Given the description of an element on the screen output the (x, y) to click on. 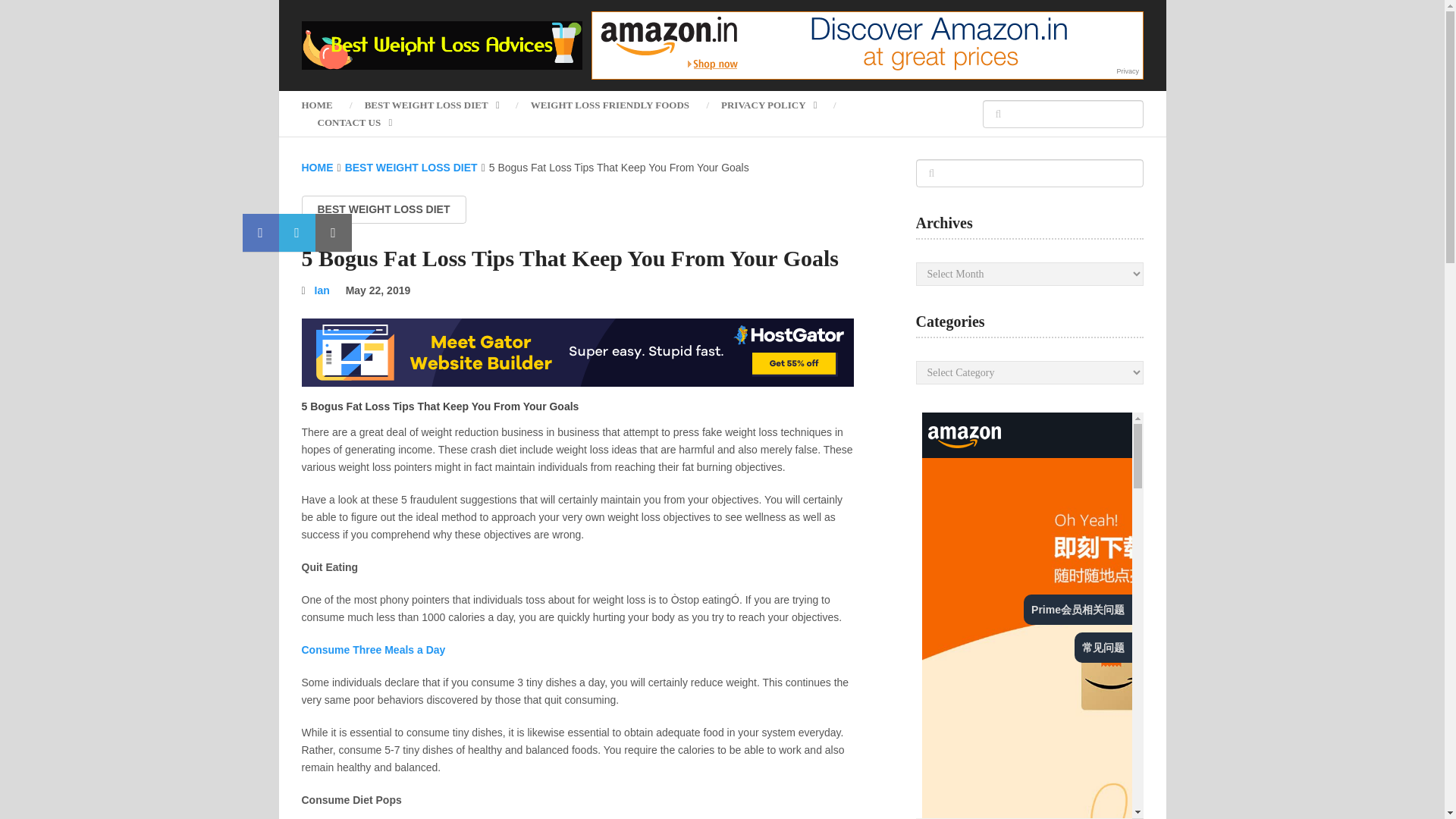
BEST WEIGHT LOSS DIET (383, 209)
HOME (317, 167)
View all posts in Best Weight Loss Diet (383, 209)
CONTACT US (354, 122)
PRIVACY POLICY (768, 104)
Posts by Ian (322, 290)
BEST WEIGHT LOSS DIET (432, 104)
WEIGHT LOSS FRIENDLY FOODS (609, 104)
BEST WEIGHT LOSS DIET (411, 167)
Consume Three Meals a Day (373, 649)
HOME (325, 104)
Ian (322, 290)
